Given the description of an element on the screen output the (x, y) to click on. 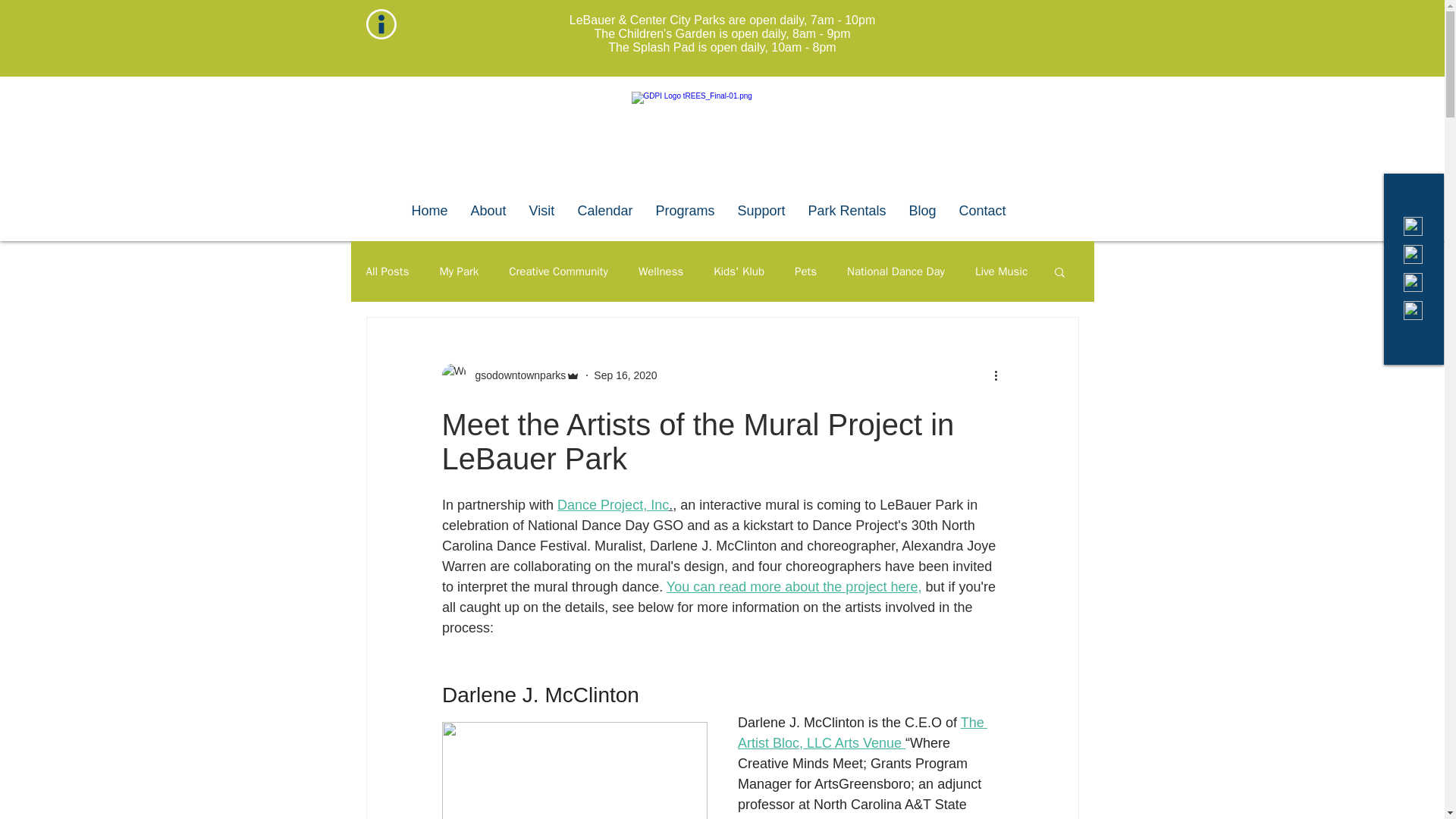
Pets (805, 270)
All Posts (387, 270)
gsodowntownparks (510, 375)
Live Music (1001, 270)
gsodowntownparks (515, 374)
Park Rentals (846, 210)
Creative Community (558, 270)
Kids' Klub (738, 270)
Sep 16, 2020 (625, 374)
Blog (922, 210)
